Given the description of an element on the screen output the (x, y) to click on. 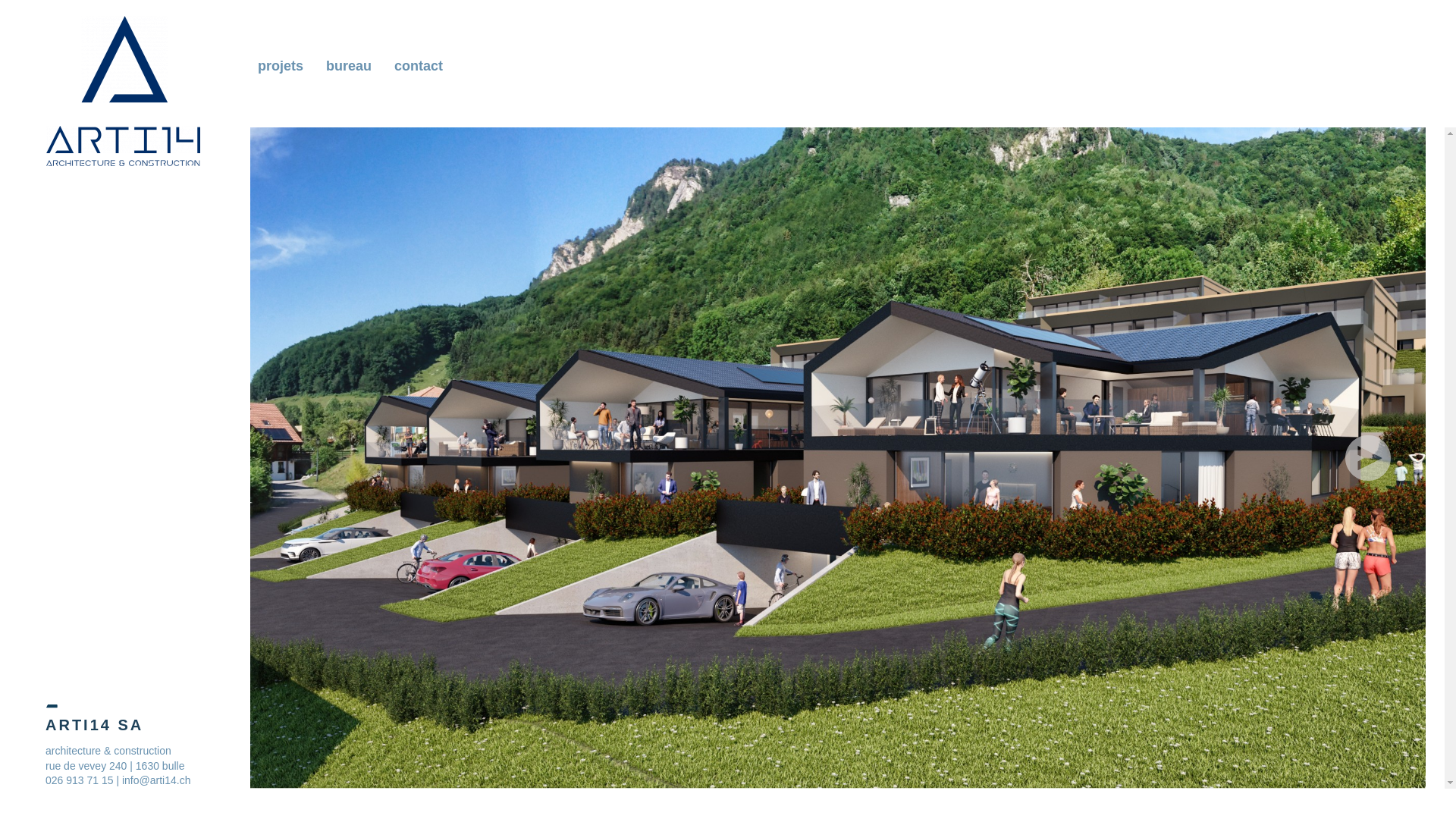
ARTI14 SA Element type: text (117, 731)
bureau Element type: text (352, 65)
projets Element type: text (284, 65)
ARTI14 SA Element type: hover (123, 89)
rue de vevey 240 | 1630 bulle Element type: text (114, 765)
architecture & construction Element type: text (108, 750)
contact Element type: text (422, 65)
info@arti14.ch Element type: text (156, 780)
026 913 71 15 Element type: text (79, 780)
